Given the description of an element on the screen output the (x, y) to click on. 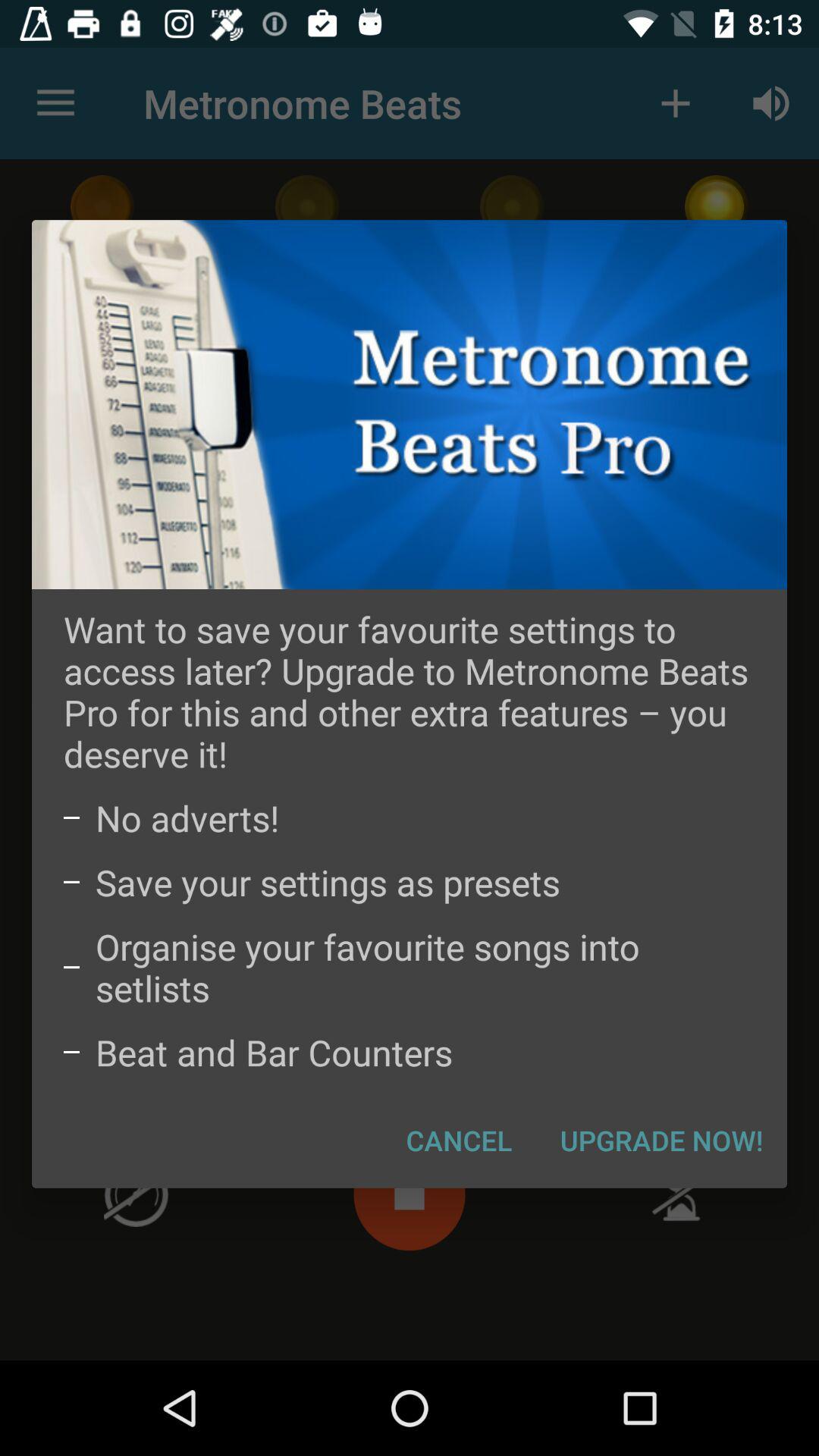
press item next to upgrade now! item (459, 1140)
